Given the description of an element on the screen output the (x, y) to click on. 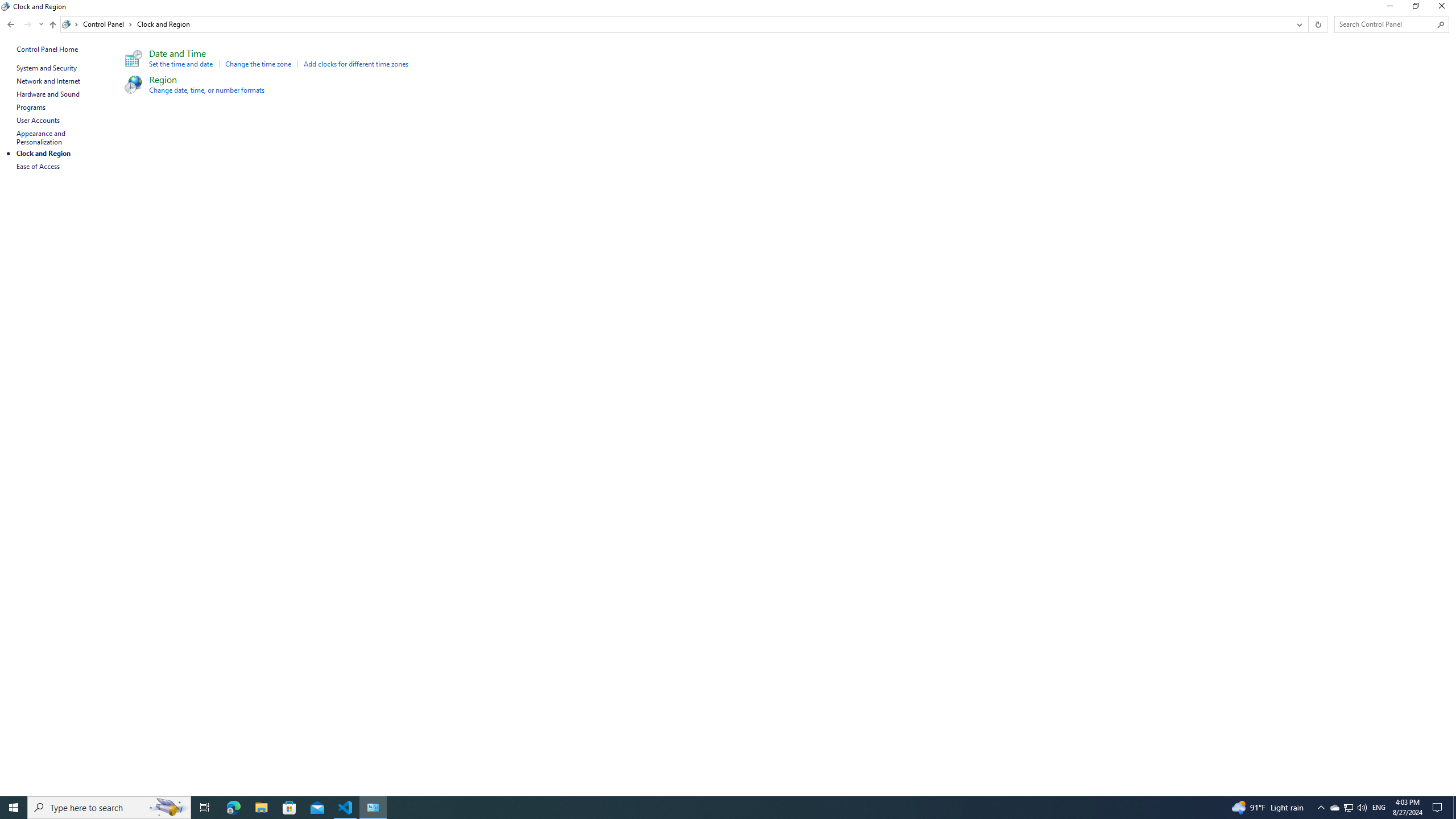
System and Security (47, 67)
Set the time and date (181, 63)
Change date, time, or number formats (206, 89)
Date and Time (177, 52)
Clock and Region (163, 23)
Control Panel (107, 23)
Add clocks for different time zones (355, 63)
Icon (132, 84)
